Given the description of an element on the screen output the (x, y) to click on. 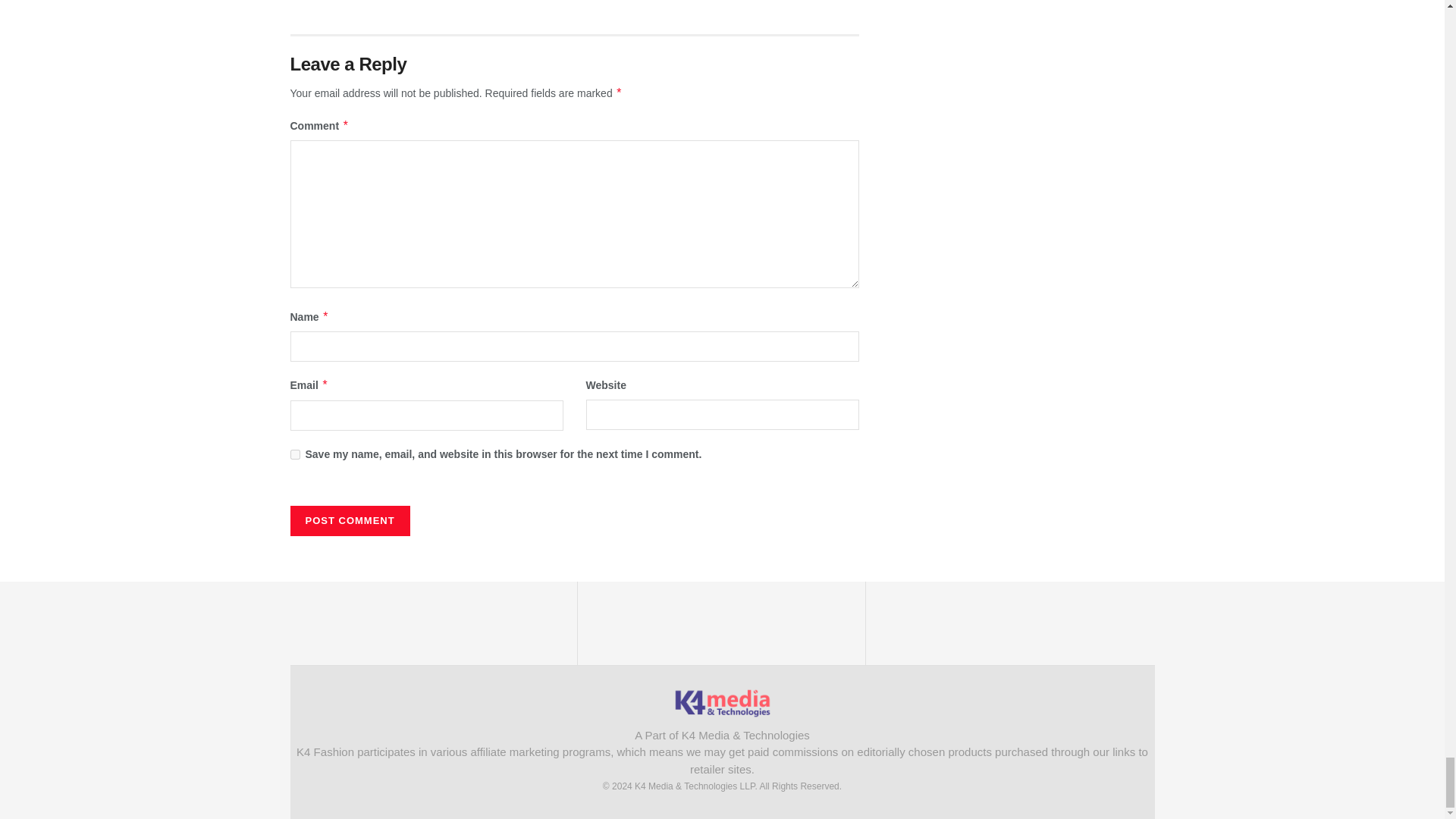
Post Comment (349, 521)
yes (294, 454)
